Given the description of an element on the screen output the (x, y) to click on. 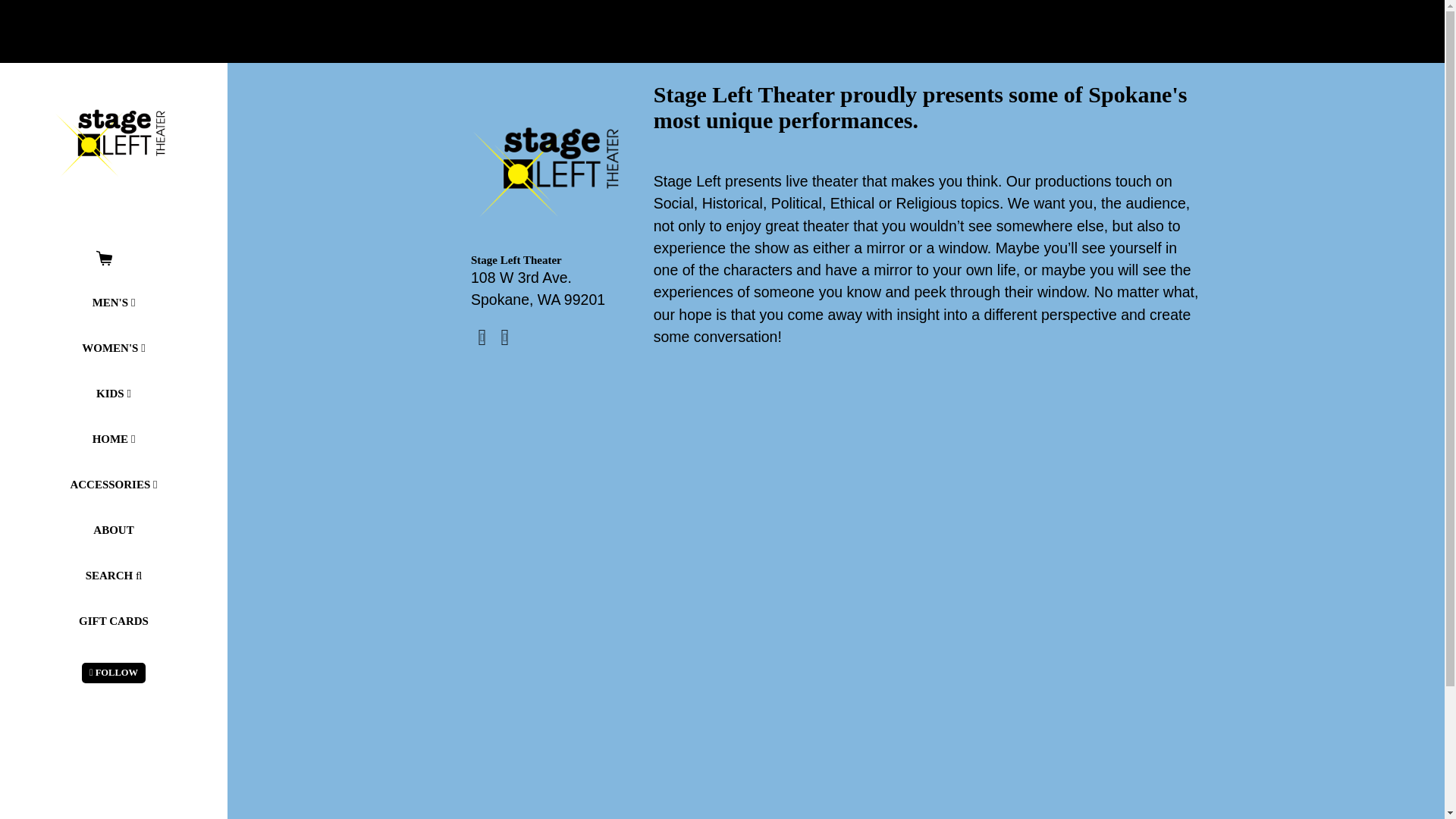
WOMEN'S (113, 348)
MEN'S (113, 302)
Shop Men's (113, 302)
